Given the description of an element on the screen output the (x, y) to click on. 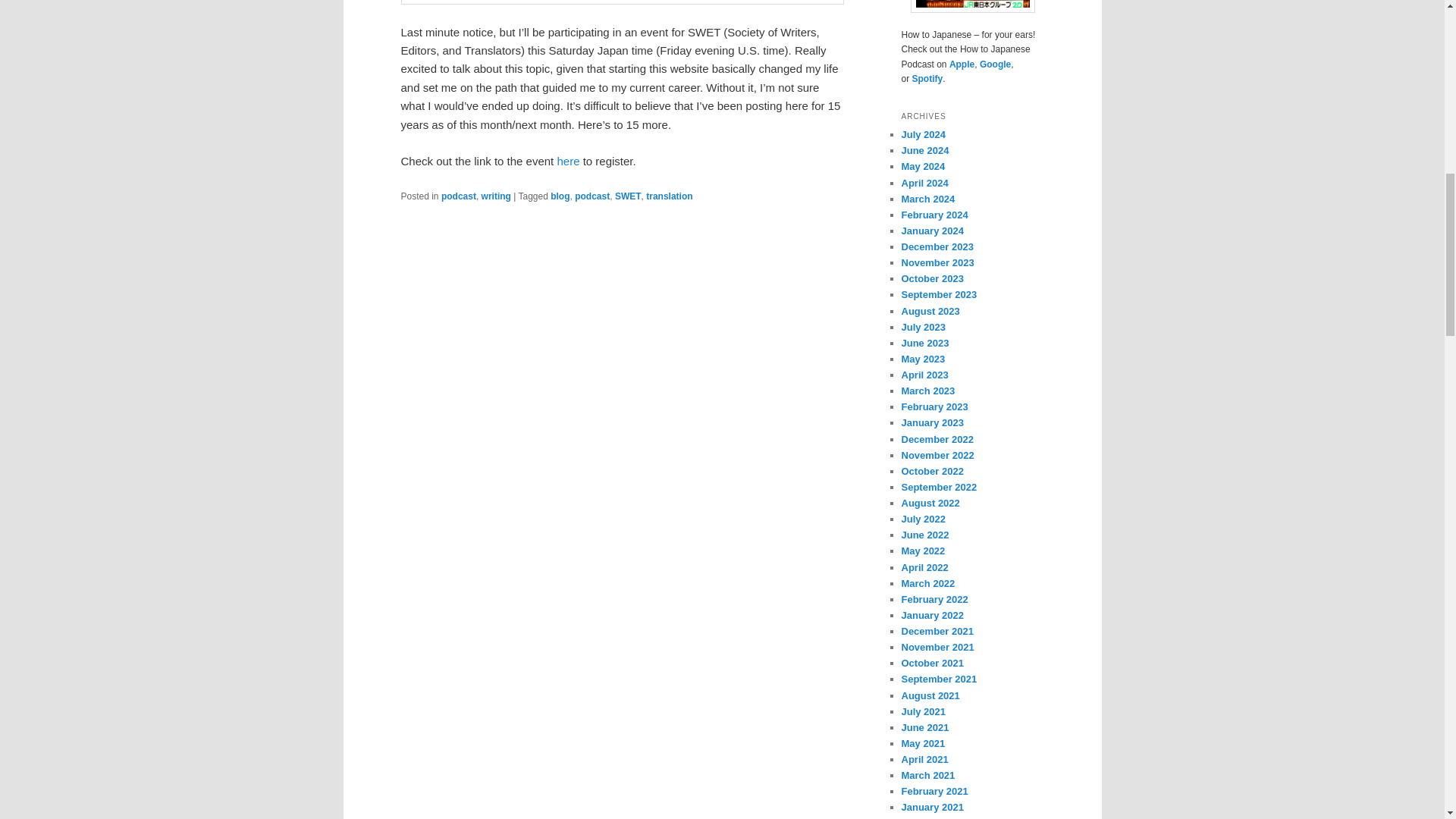
podcast (592, 195)
April 2024 (924, 183)
writing (496, 195)
March 2024 (928, 198)
blog (559, 195)
October 2023 (931, 278)
February 2024 (934, 214)
July 2023 (922, 326)
translation (669, 195)
SWET (628, 195)
November 2023 (937, 262)
Spotify (927, 78)
July 2024 (922, 134)
August 2023 (930, 310)
June 2024 (925, 150)
